Given the description of an element on the screen output the (x, y) to click on. 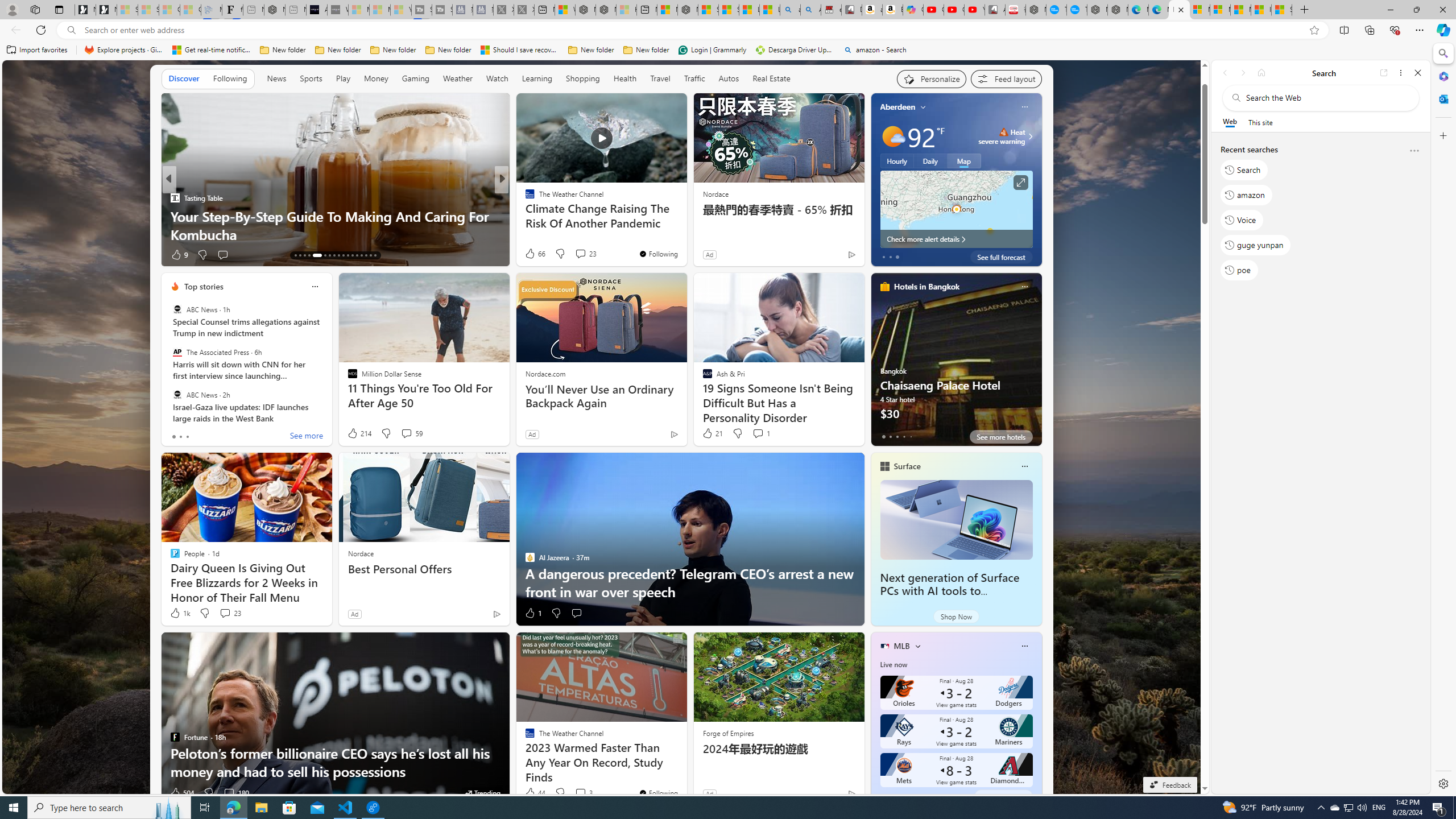
Larger map  (955, 209)
Nordace - My Account (1035, 9)
Inc. (524, 197)
AutomationID: tab-51 (370, 255)
These Are the Three Best Tricep Exercises (684, 234)
View comments 23 Comment (230, 612)
Descarga Driver Updater (794, 49)
